Given the description of an element on the screen output the (x, y) to click on. 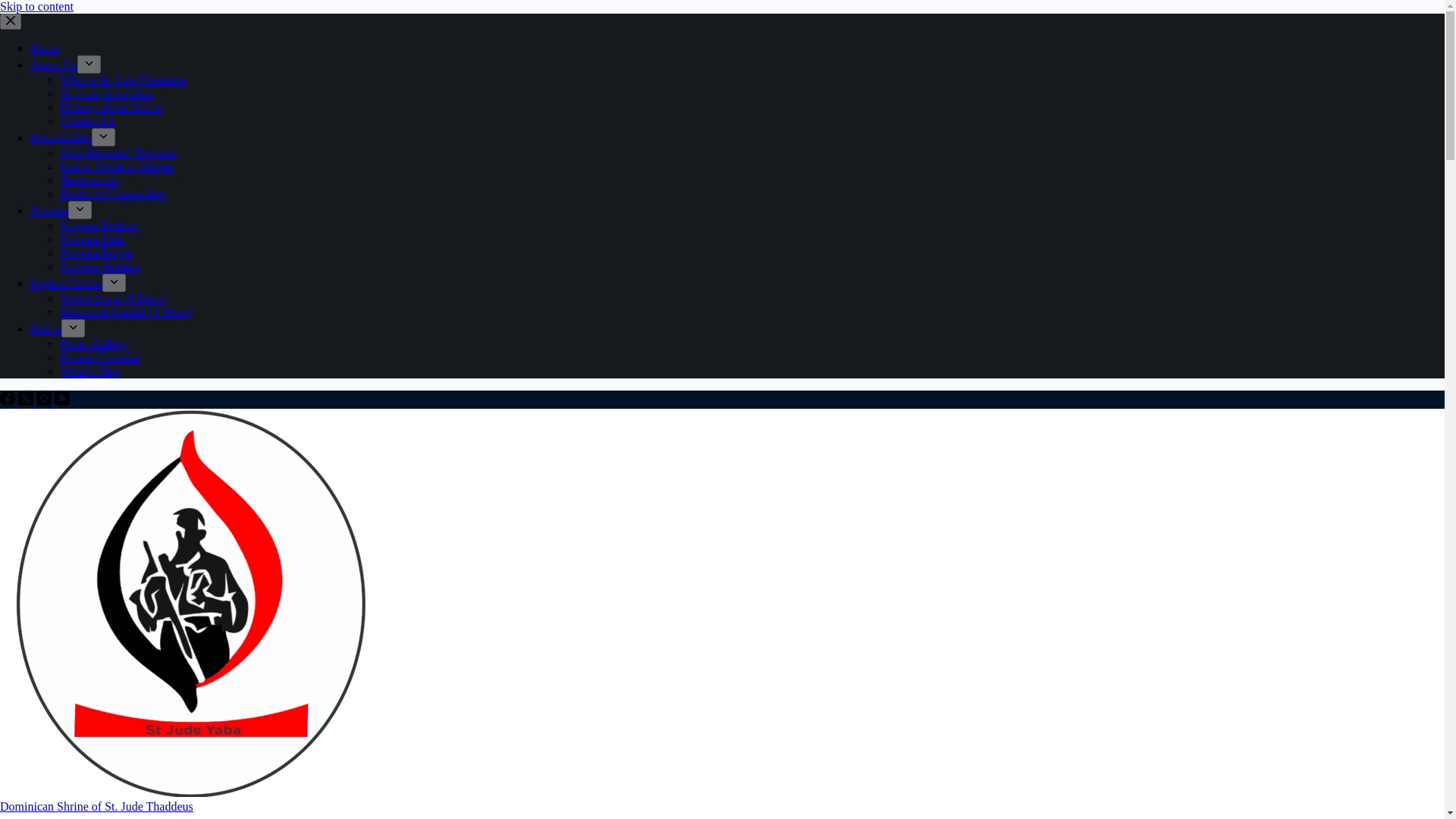
Membership (60, 137)
New Member? Register (118, 152)
Novena Date (92, 238)
Light a Candle (65, 282)
List of Societal Charter (117, 165)
Photo Gallery (94, 343)
Dominican Shrine of St. Jude Thaddeus (96, 806)
Skip to content (37, 6)
Testimonies (90, 179)
Who is St. Jude Thaddeus (123, 79)
